Given the description of an element on the screen output the (x, y) to click on. 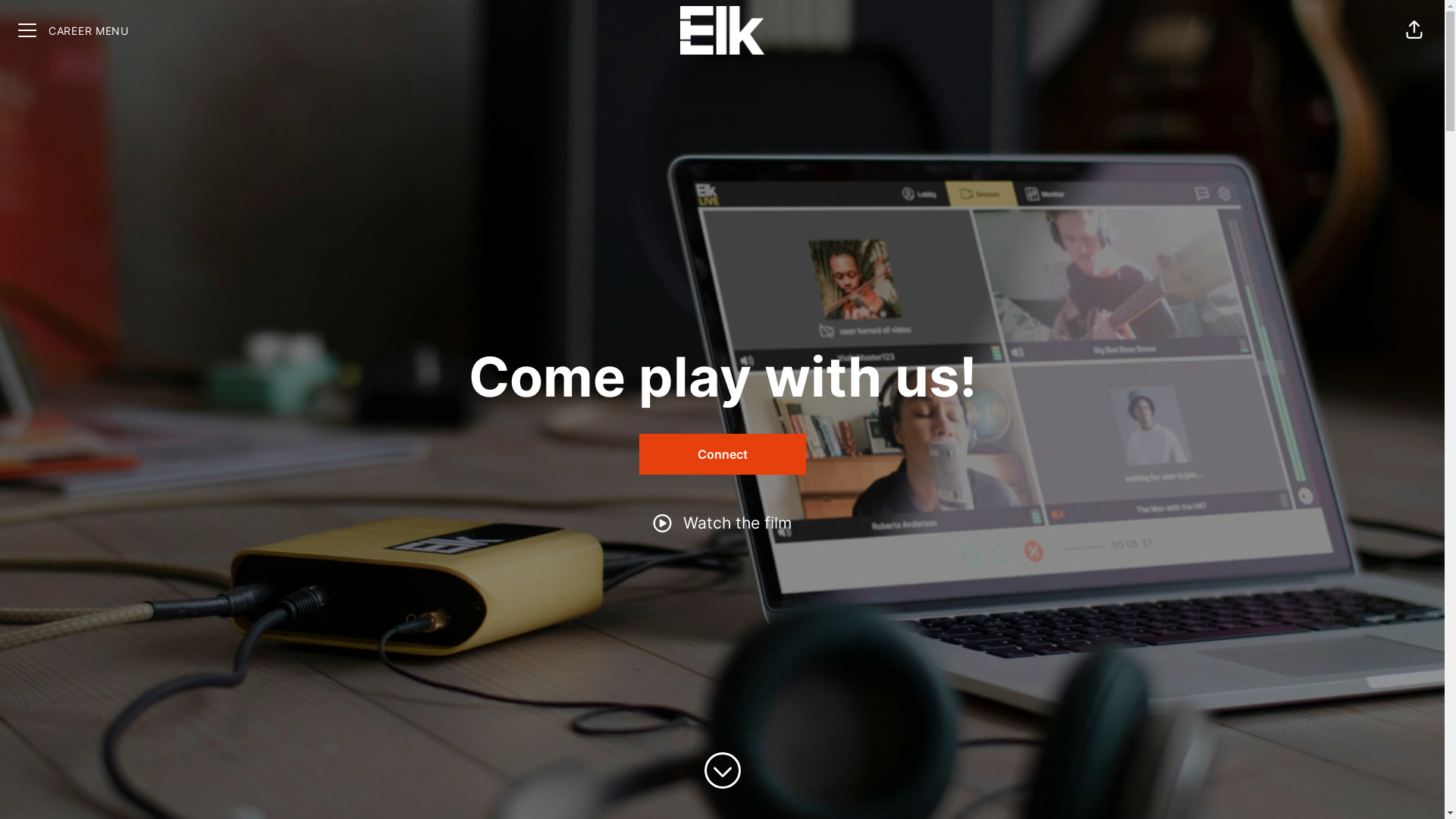
Watch the film Element type: text (721, 523)
Scroll to content Element type: hover (721, 770)
Connect Element type: text (721, 453)
CAREER MENU Element type: text (73, 30)
Share page Element type: hover (1414, 30)
